Given the description of an element on the screen output the (x, y) to click on. 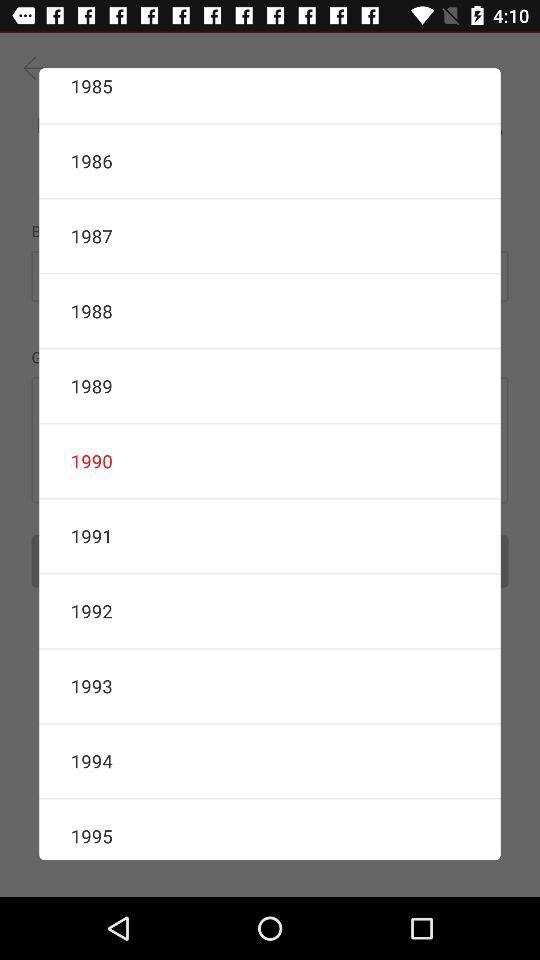
flip to the 1993 (269, 686)
